Given the description of an element on the screen output the (x, y) to click on. 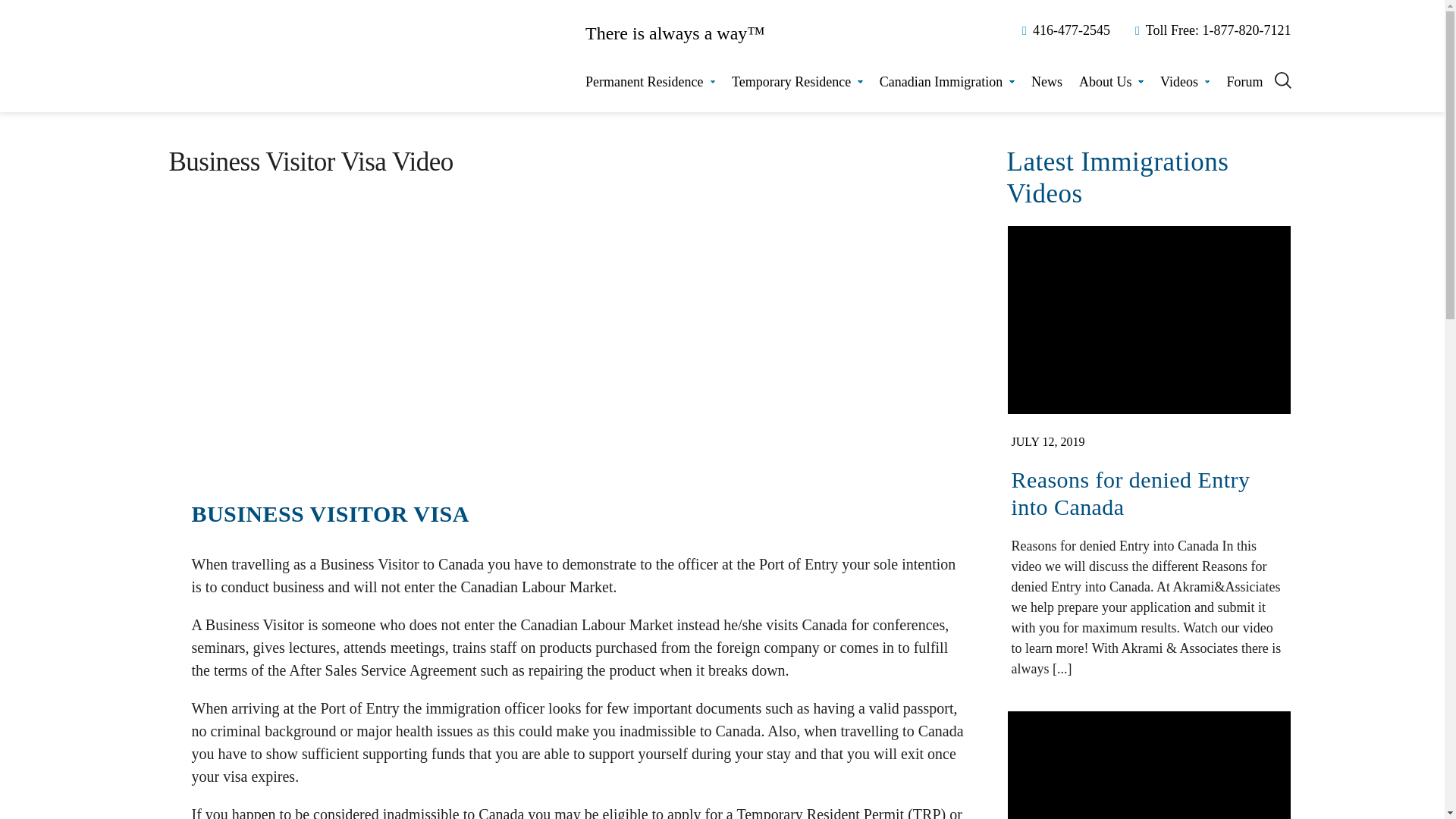
416-477-2545 (1062, 30)
Permanent Residence (649, 81)
Temporary Residence (797, 81)
Toll Free: 1-877-820-7121 (1210, 30)
Screenshot 2023-07-11 at 2.16.59 PM (1148, 765)
Screenshot 2023-07-11 at 2.38.03 PM (1148, 320)
